Given the description of an element on the screen output the (x, y) to click on. 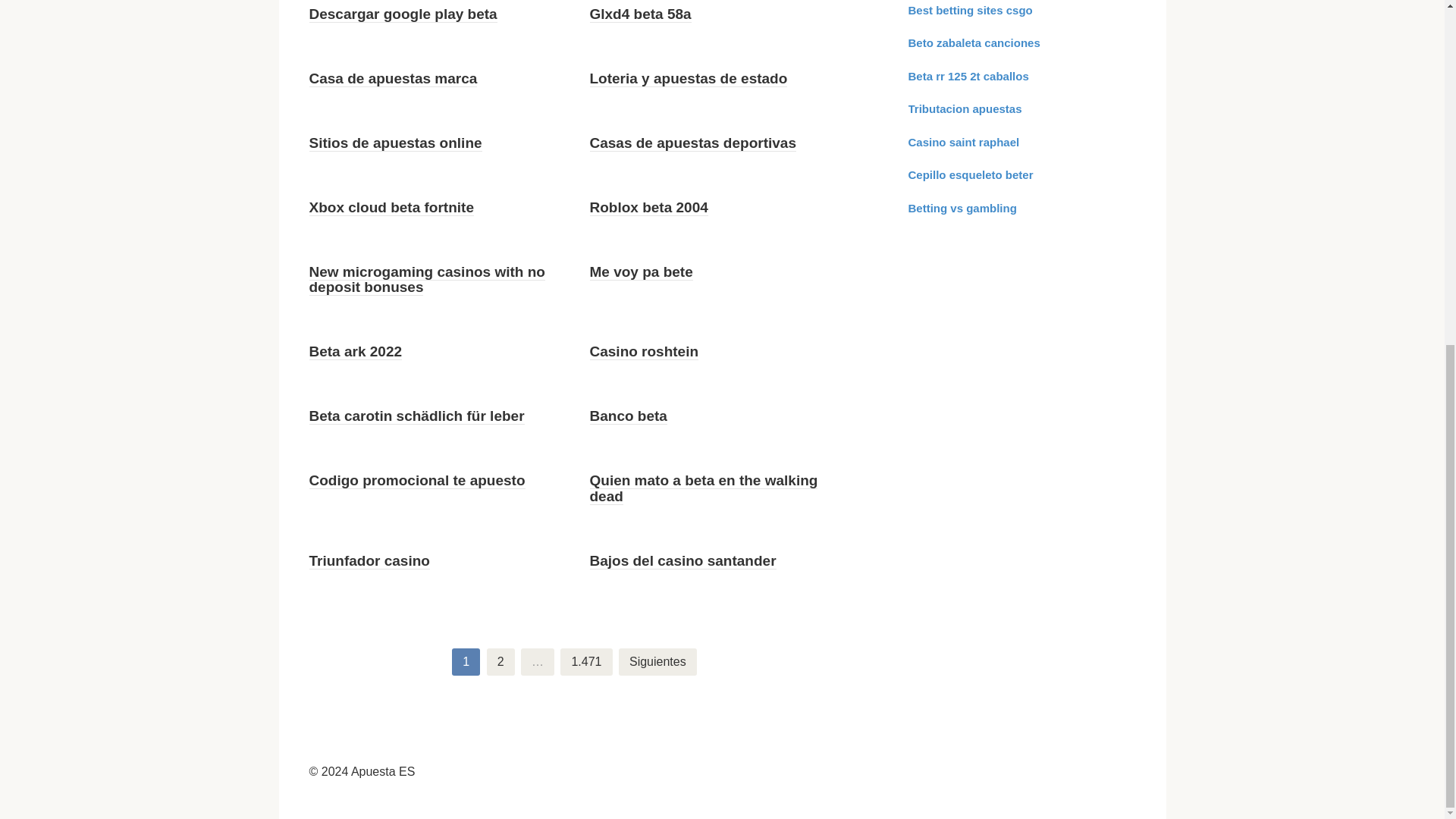
Descargar google play beta (402, 13)
Beta ark 2022 (355, 351)
1.471 (585, 661)
Sitios de apuestas online (394, 143)
Triunfador casino (368, 560)
Siguientes (657, 661)
New microgaming casinos with no deposit bonuses (426, 279)
Casas de apuestas deportivas (692, 143)
Glxd4 beta 58a (640, 13)
Casino roshtein (643, 351)
Bajos del casino santander (682, 560)
Codigo promocional te apuesto (416, 480)
Banco beta (627, 416)
2 (500, 661)
Casa de apuestas marca (392, 78)
